Given the description of an element on the screen output the (x, y) to click on. 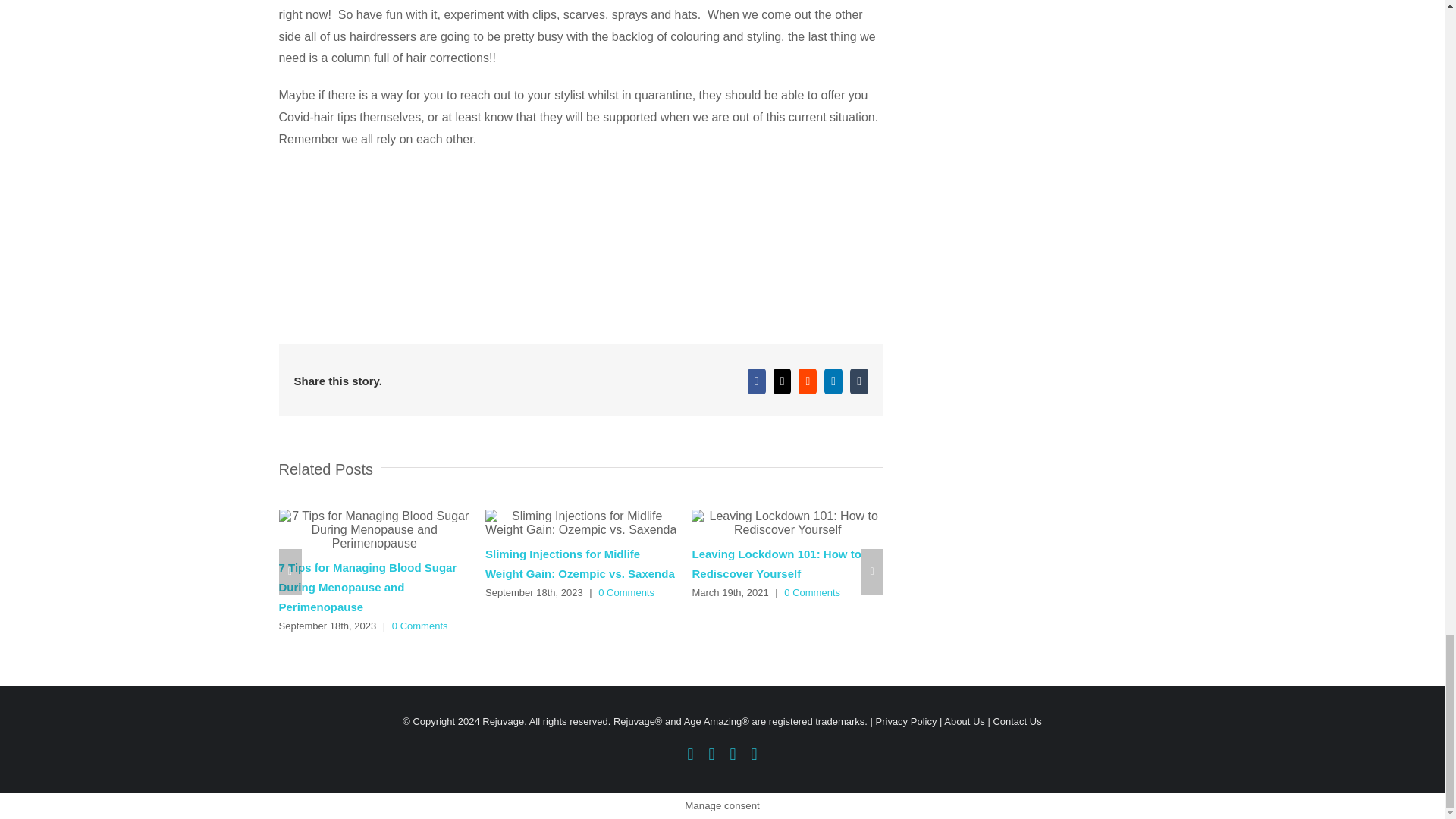
0 Comments (812, 592)
0 Comments (625, 592)
Leaving Lockdown 101: How to Rediscover Yourself (775, 563)
0 Comments (419, 625)
Leaving Lockdown 101: How to Rediscover Yourself (775, 563)
